Given the description of an element on the screen output the (x, y) to click on. 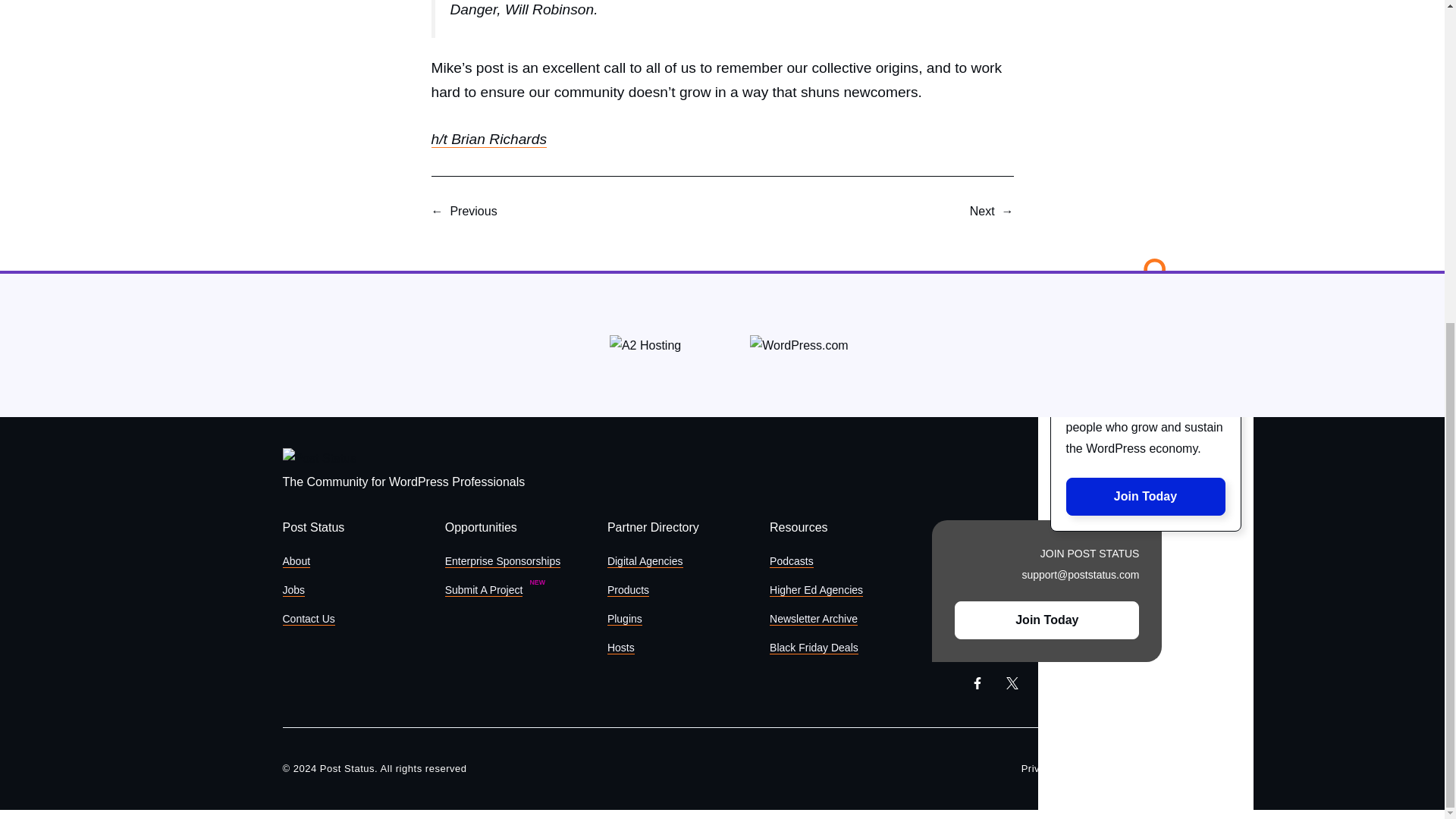
Next (981, 210)
Black Friday Deals (814, 647)
Post Status Icon (1144, 279)
Newsletter Archive (813, 618)
A2 Hosting (645, 345)
Digital Agencies (644, 561)
Submit A Project (483, 590)
Join Today (1046, 620)
Contact Us (308, 618)
Join Today (1145, 496)
Hosts (620, 647)
Post Status (319, 458)
Enterprise Sponsorships (502, 561)
Jobs (293, 590)
About (296, 561)
